Given the description of an element on the screen output the (x, y) to click on. 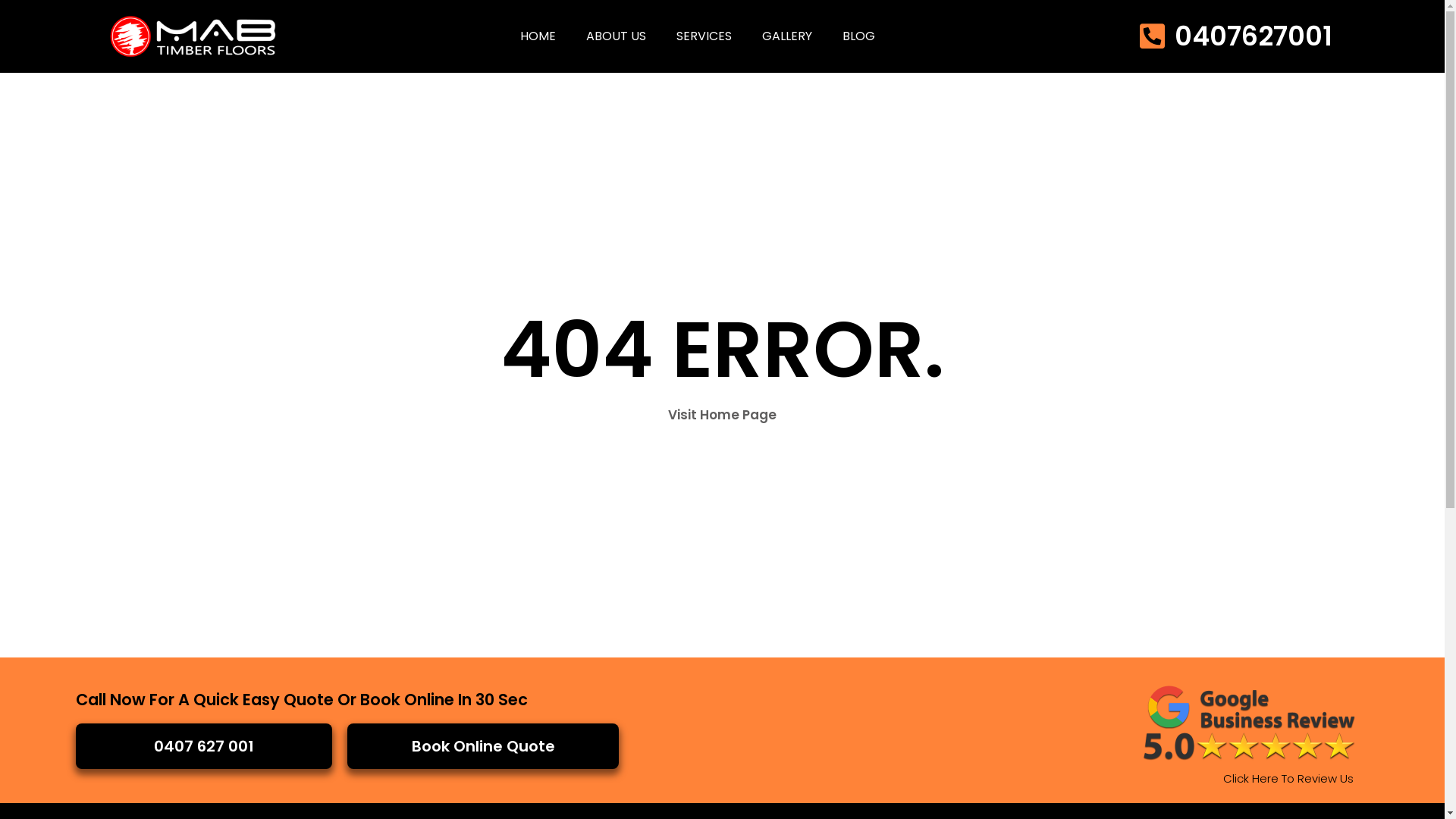
Visit Home Page Element type: text (722, 414)
GALLERY Element type: text (786, 35)
BLOG Element type: text (858, 35)
0407 627 001 Element type: text (203, 745)
HOME Element type: text (538, 35)
Book Online Quote Element type: text (482, 745)
SERVICES Element type: text (703, 35)
0407627001 Element type: text (1232, 36)
ABOUT US Element type: text (616, 35)
Click Here To Review Us Element type: text (1288, 778)
